Given the description of an element on the screen output the (x, y) to click on. 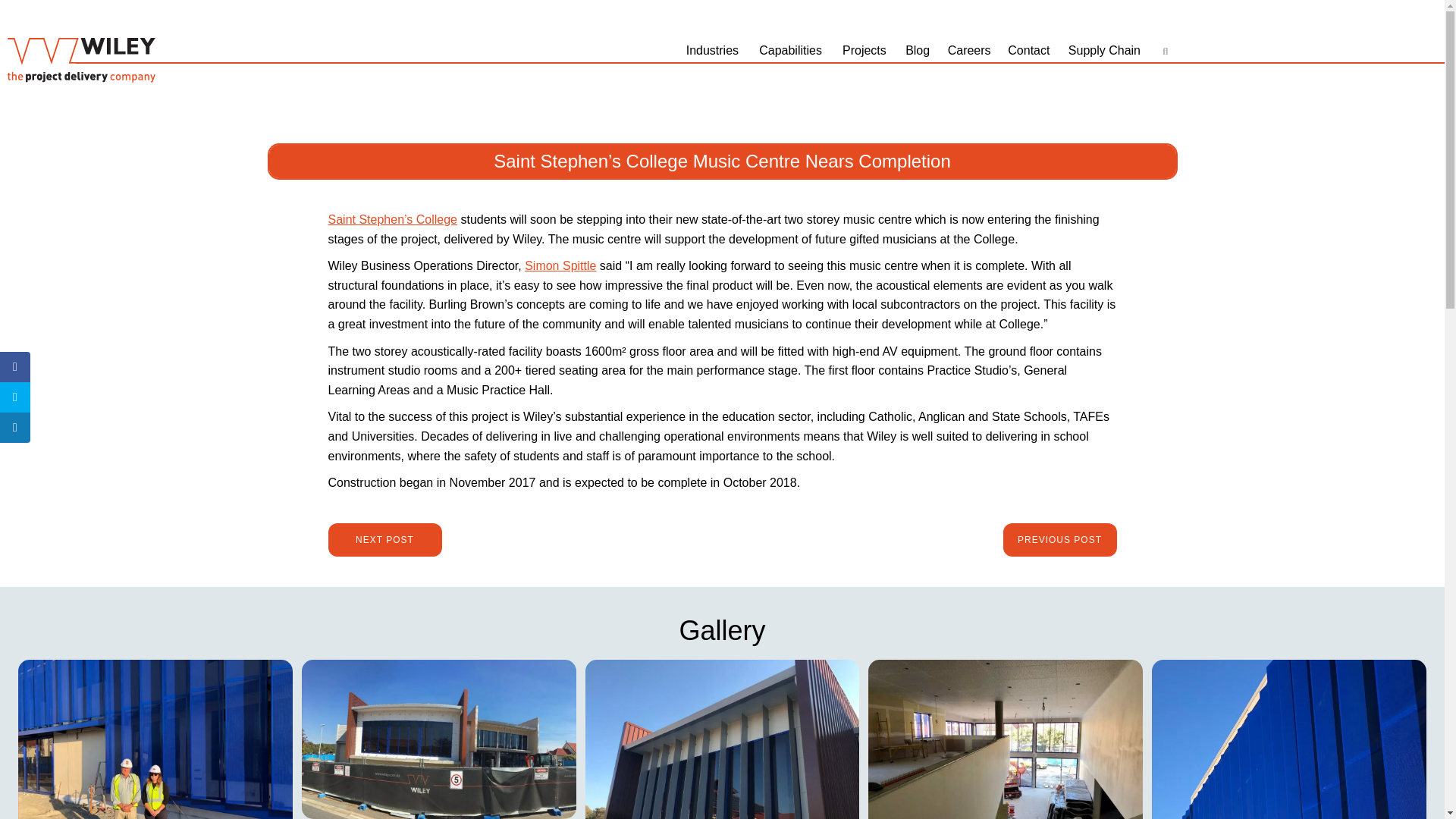
Blog (919, 50)
PREVIOUS POST (1059, 539)
Supply Chain (1107, 50)
Supply Chain (1107, 50)
Simon Spittle (559, 265)
Capabilities (792, 50)
Blog (919, 50)
Careers (970, 50)
NEXT POST (384, 539)
Capabilities (792, 50)
Careers (970, 50)
Projects (866, 50)
Industries (714, 50)
Projects (866, 50)
Industries (714, 50)
